Given the description of an element on the screen output the (x, y) to click on. 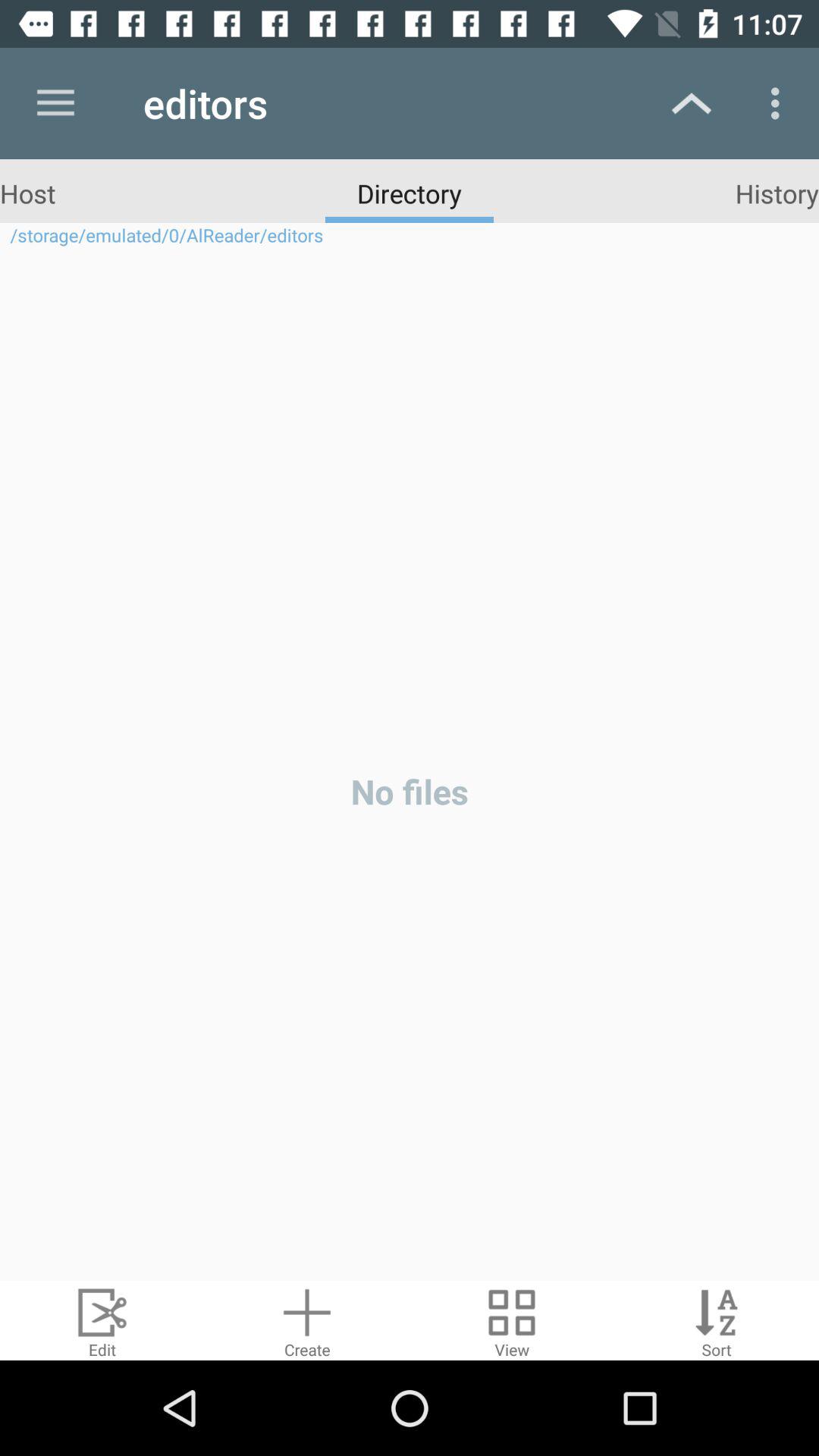
turn off icon next to editors icon (55, 103)
